Given the description of an element on the screen output the (x, y) to click on. 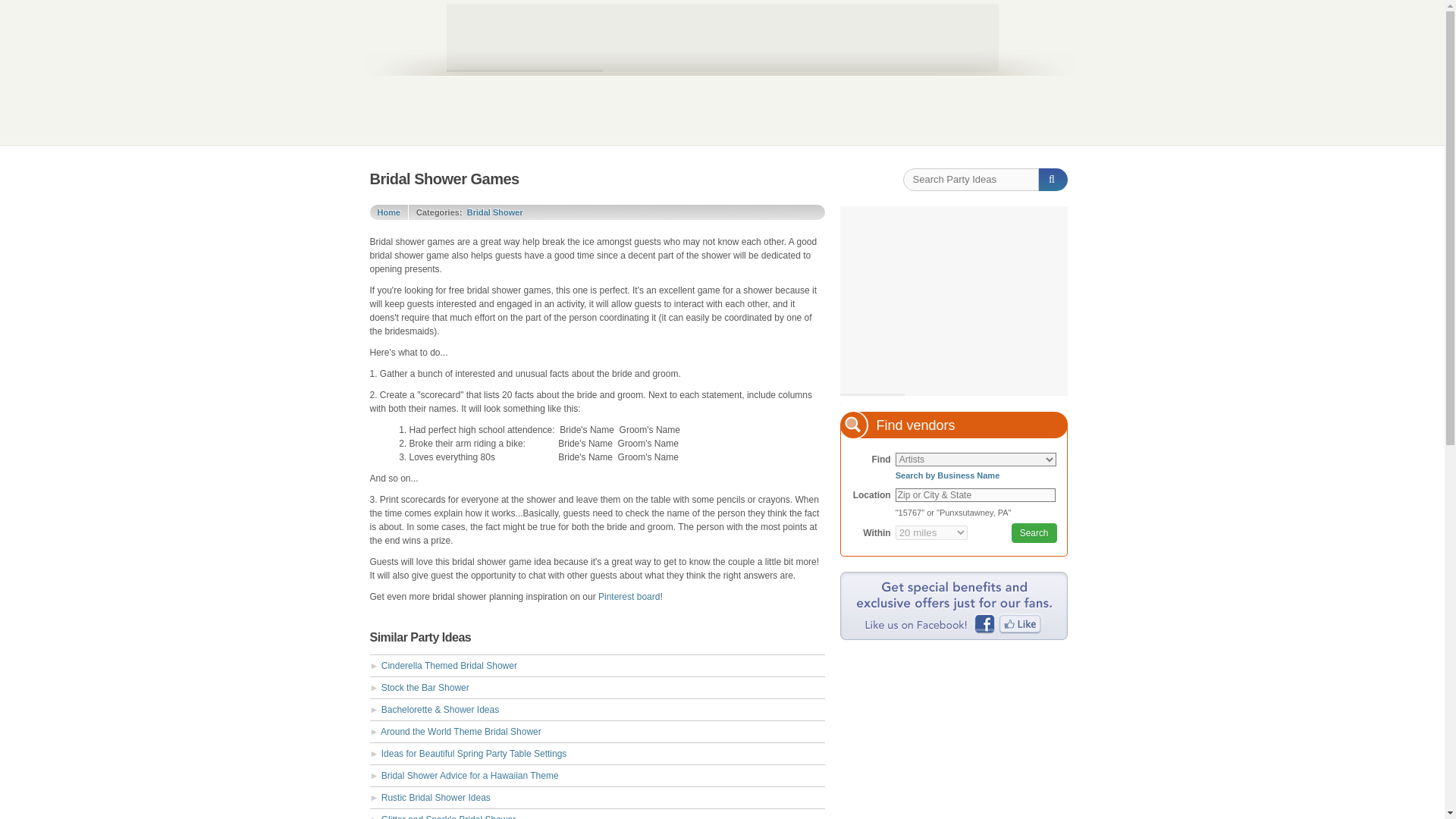
Search (1034, 532)
Glitter and Sparkle Bridal Shower (448, 816)
Pinterest board (628, 596)
Around the World Theme Bridal Shower (460, 731)
Rustic Bridal Shower Ideas (435, 797)
Cinderella Themed Bridal Shower (448, 665)
Search Posts (1053, 179)
Ideas for Beautiful Spring Party Table Settings (474, 753)
Search by Business Name (976, 477)
Bridal Shower Advice for a Hawaiian Theme (470, 775)
